Given the description of an element on the screen output the (x, y) to click on. 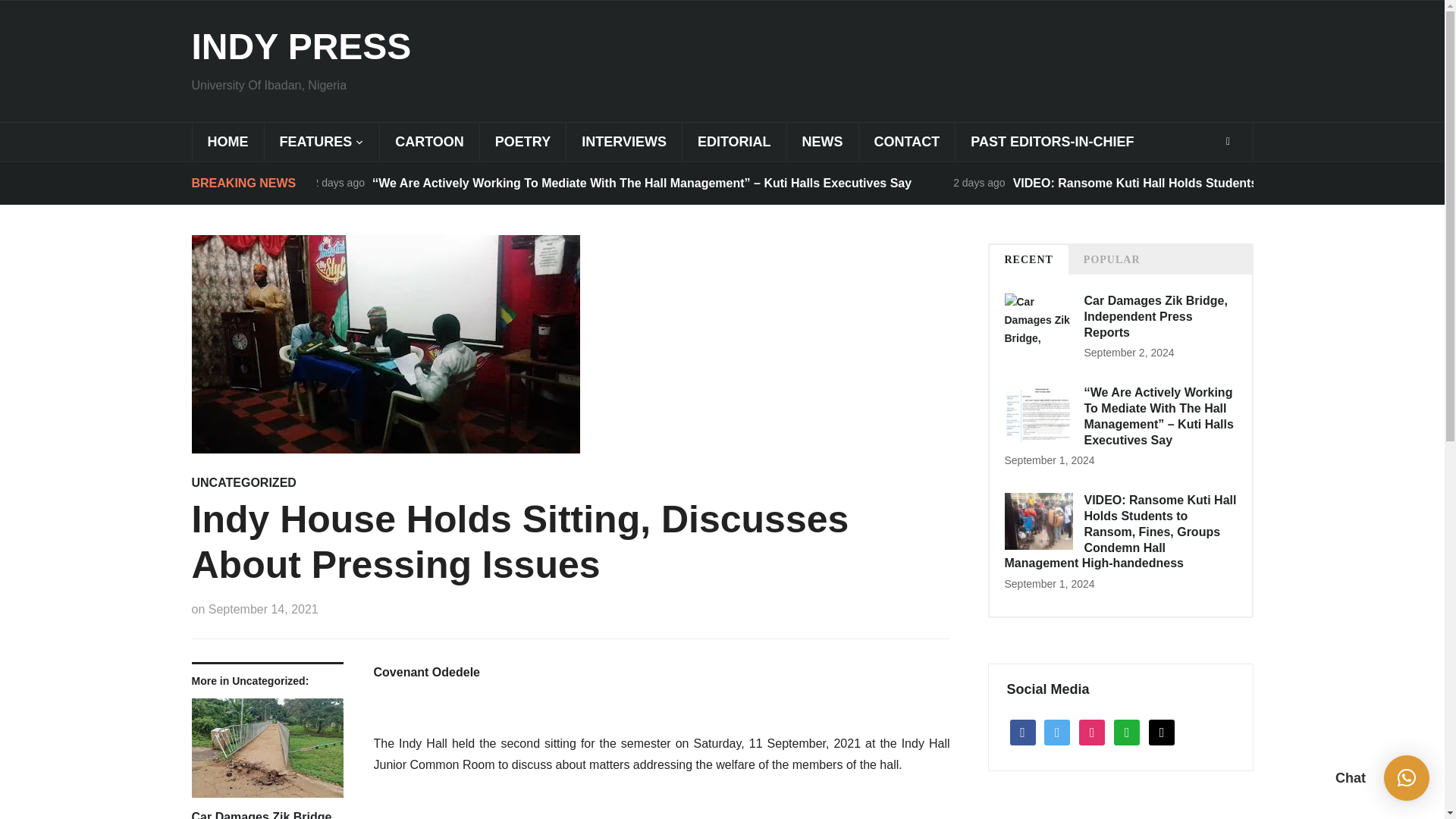
NEWS (822, 141)
INDY PRESS (300, 46)
POETRY (522, 141)
HOME (226, 141)
University Of Ibadan, Nigeria (300, 46)
FEATURES (321, 141)
CONTACT (907, 141)
PAST EDITORS-IN-CHIEF (1051, 141)
